Given the description of an element on the screen output the (x, y) to click on. 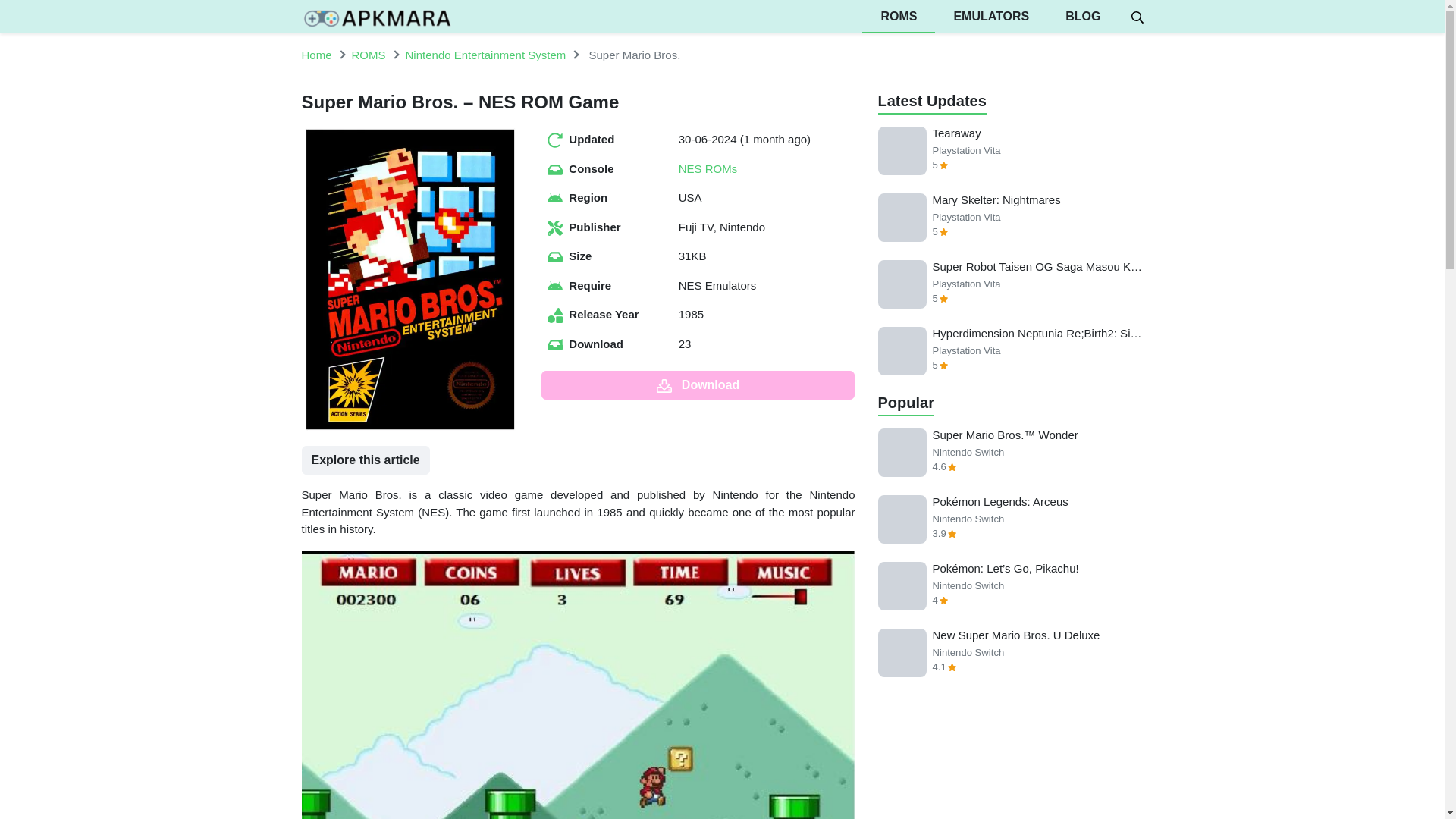
BLOG (1082, 16)
ROMS (897, 16)
APKMARA.COM (376, 16)
Home (316, 54)
EMULATORS (990, 16)
